Given the description of an element on the screen output the (x, y) to click on. 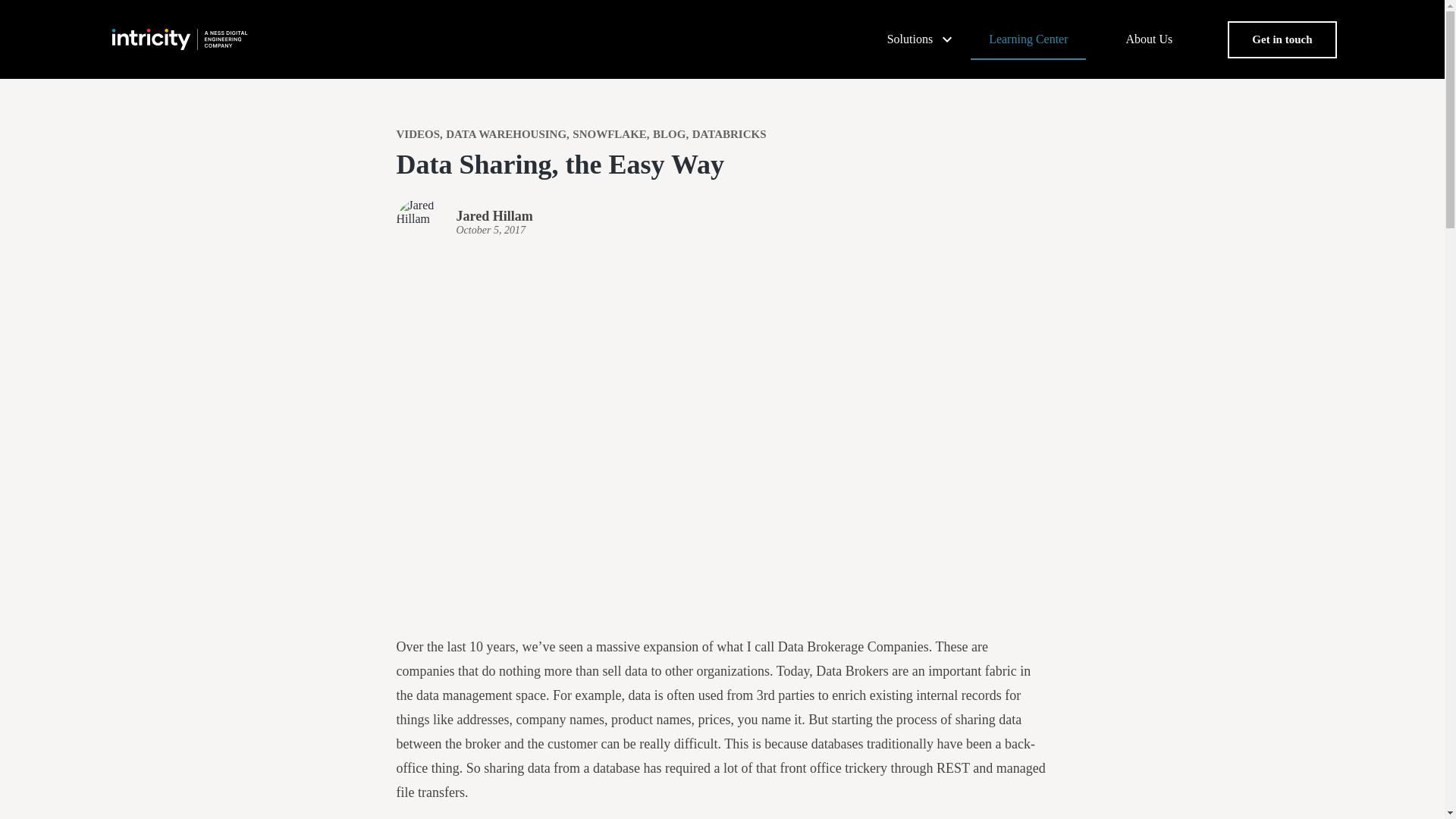
Learning Center (1027, 39)
BLOG, (670, 134)
DATABRICKS (730, 134)
VIDEOS, (419, 134)
SNOWFLAKE, (610, 134)
Solutions (909, 39)
About Us (1149, 39)
Get in touch (1281, 39)
DATA WAREHOUSING, (507, 134)
